Given the description of an element on the screen output the (x, y) to click on. 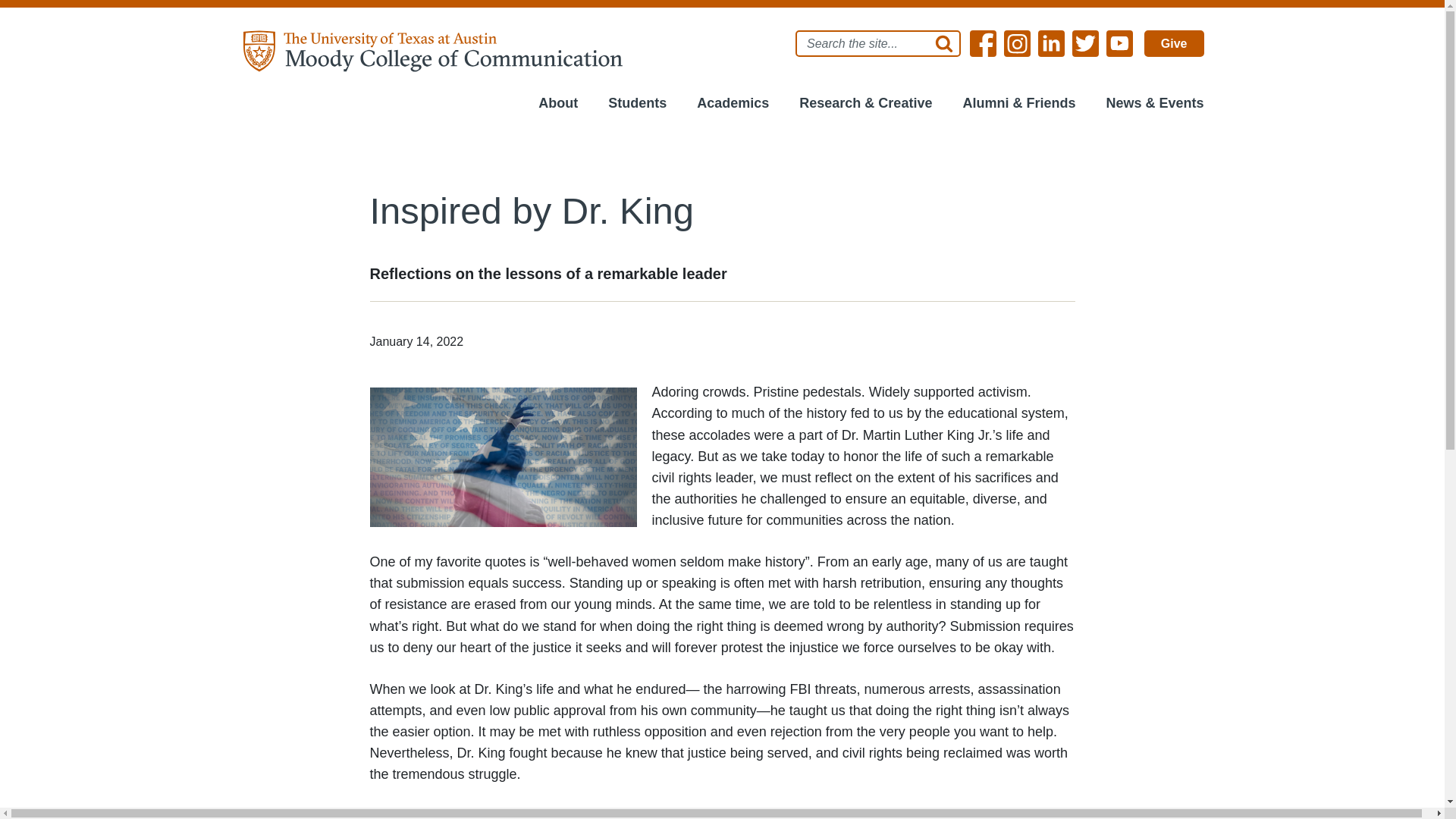
Home (433, 50)
TwitterFind us on Twitter (1085, 42)
Give (1174, 43)
Search (939, 43)
LinkedinFind us on Linkedin (1051, 42)
FacebookFind us on Facebook (982, 42)
Enter the terms you wish to search for. (877, 43)
InstagramSee us on Instagram (1017, 42)
FacebookFind us on Facebook (982, 43)
YoutubeSee us on Youtube (1119, 43)
Search (939, 43)
YoutubeSee us on Youtube (1119, 42)
TwitterFind us on Twitter (1085, 43)
LinkedinFind us on Linkedin (1051, 43)
